Given the description of an element on the screen output the (x, y) to click on. 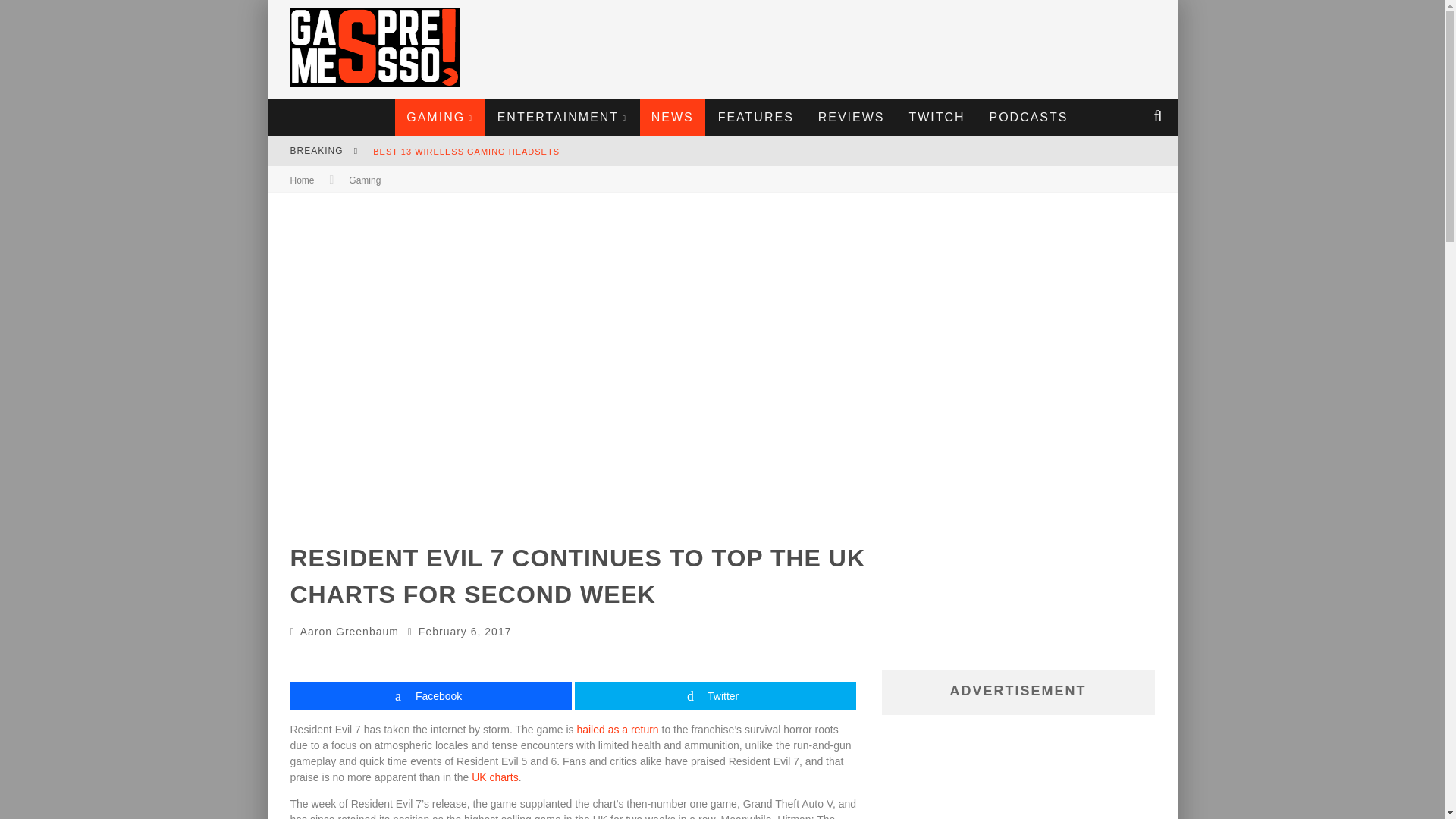
GAMING (439, 117)
Best 13 Wireless Gaming Headsets (465, 151)
Share on Twitter (715, 696)
Share on Facebook (429, 696)
View all posts in Gaming (364, 180)
ENTERTAINMENT (562, 117)
